Given the description of an element on the screen output the (x, y) to click on. 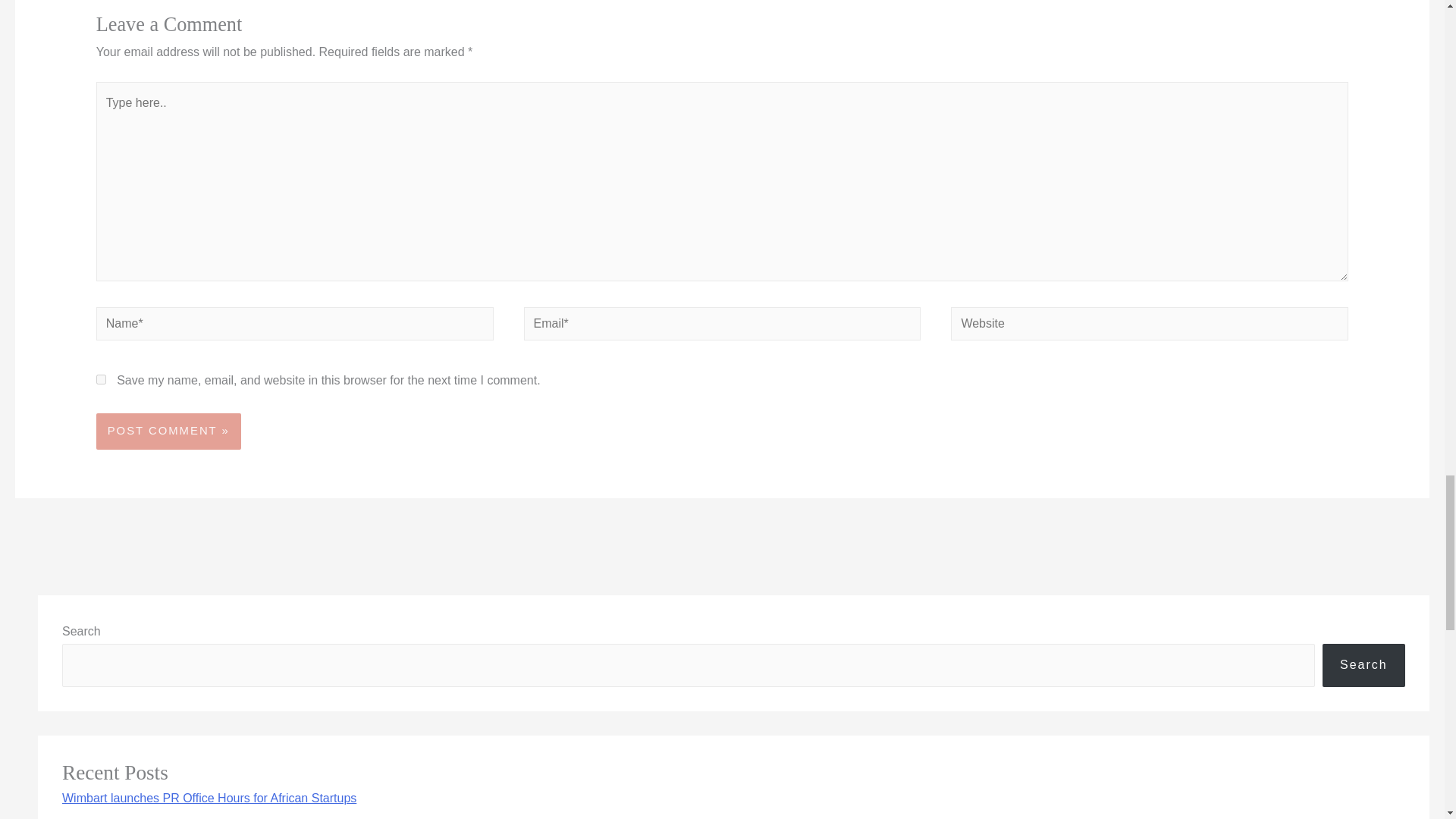
yes (101, 379)
